Given the description of an element on the screen output the (x, y) to click on. 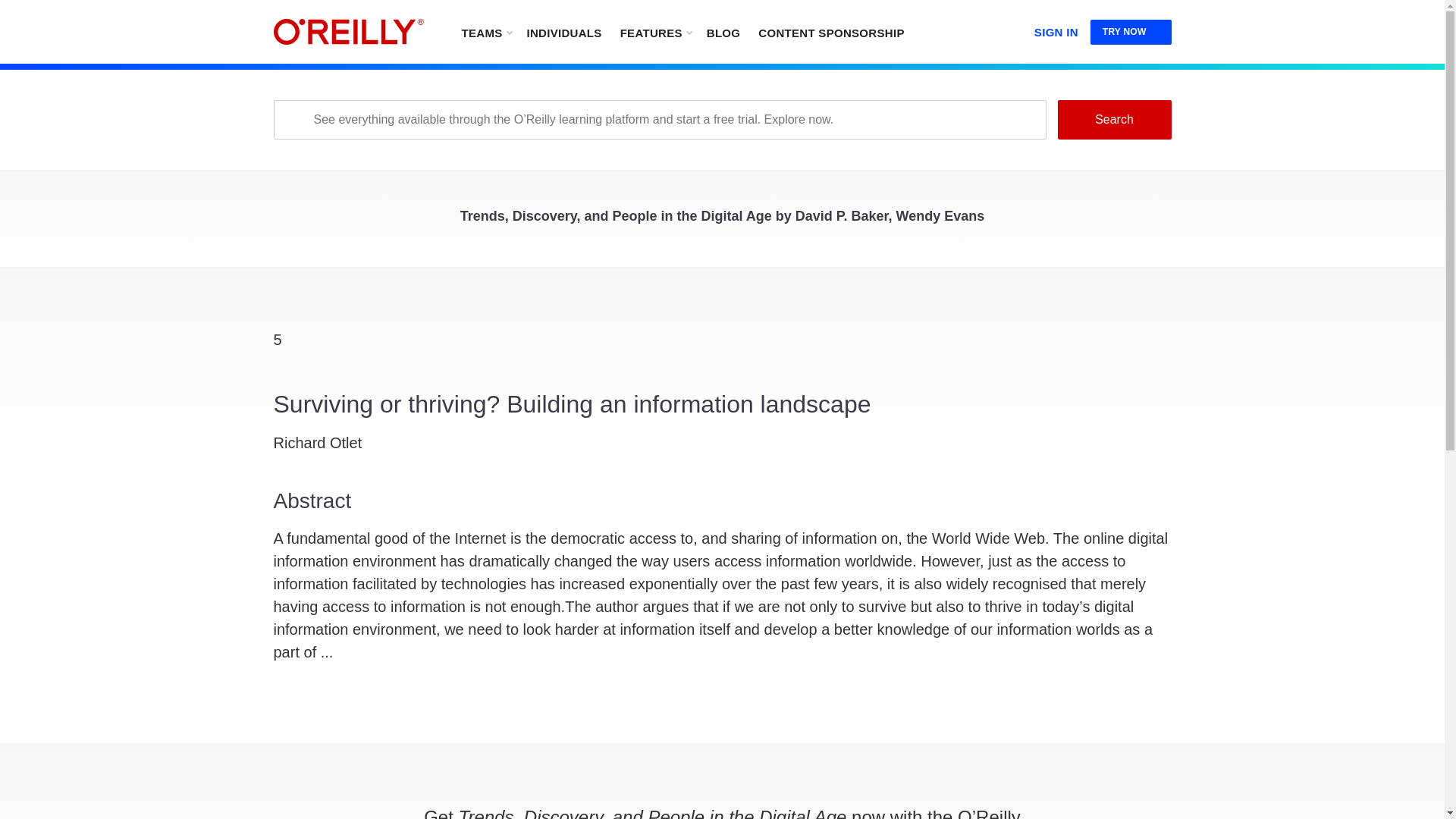
Search (1113, 119)
FEATURES (655, 31)
Search (1113, 119)
home page (348, 31)
CONTENT SPONSORSHIP (831, 31)
BLOG (723, 31)
TRY NOW (1131, 32)
TEAMS (486, 31)
INDIVIDUALS (563, 31)
Search (1113, 119)
SIGN IN (1055, 29)
